Given the description of an element on the screen output the (x, y) to click on. 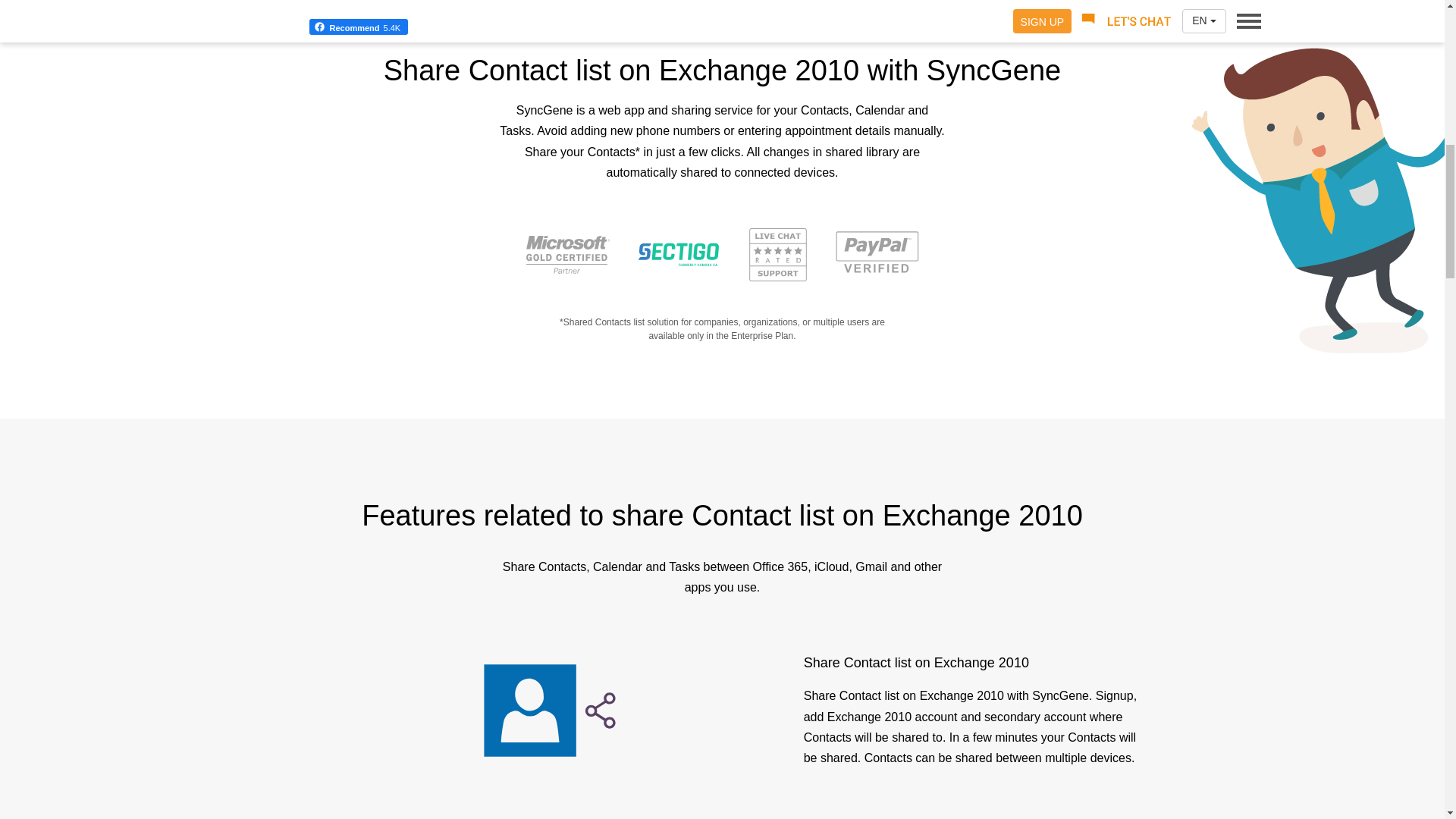
SyncGene (722, 14)
Share Contact list on Exchange 2010 (549, 710)
Five star rated live chat support (778, 253)
Microsoft Certified partner (567, 253)
Sectigo (678, 253)
PayPal Verified (876, 253)
